Given the description of an element on the screen output the (x, y) to click on. 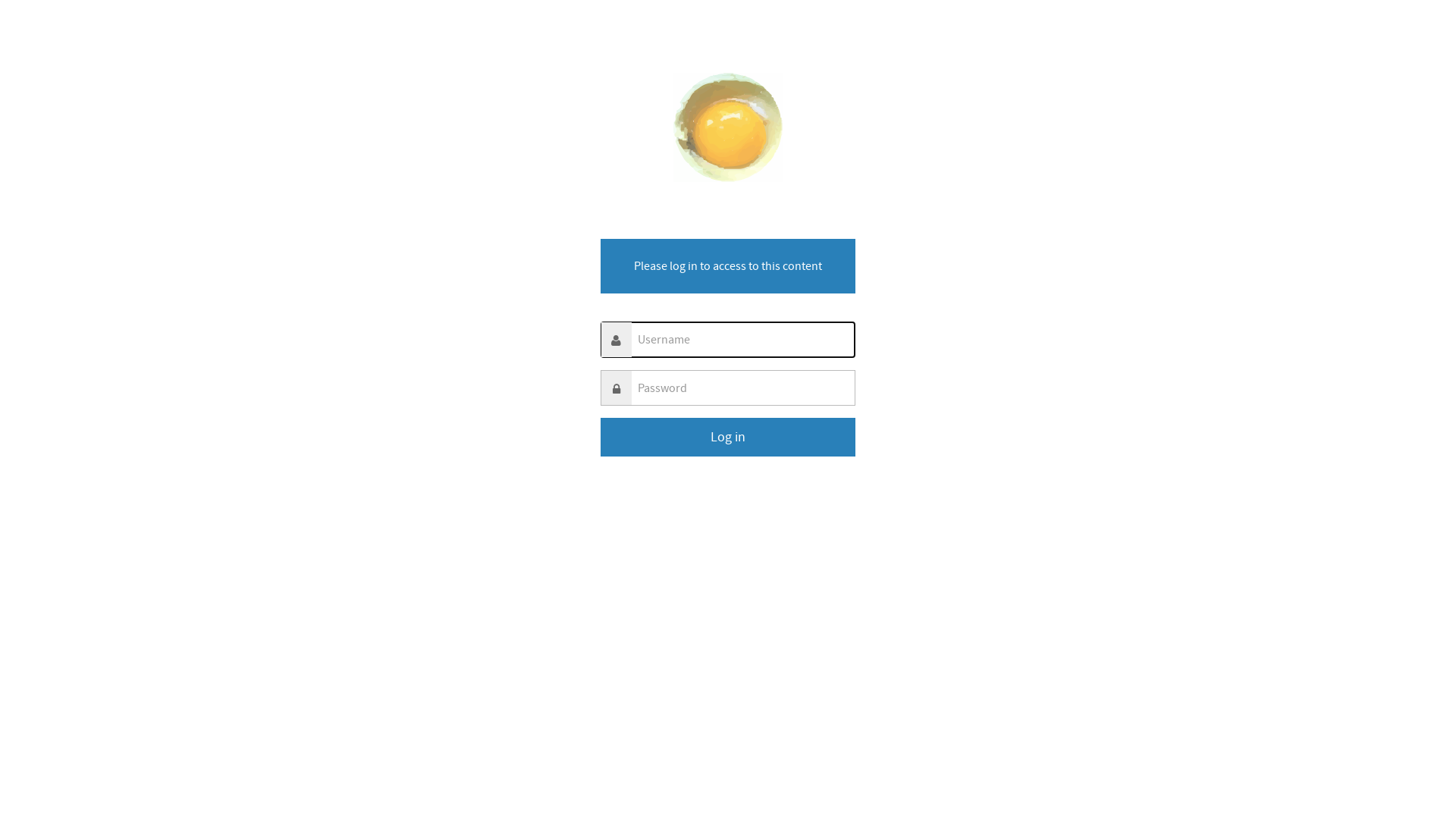
Log in Element type: text (727, 436)
